Given the description of an element on the screen output the (x, y) to click on. 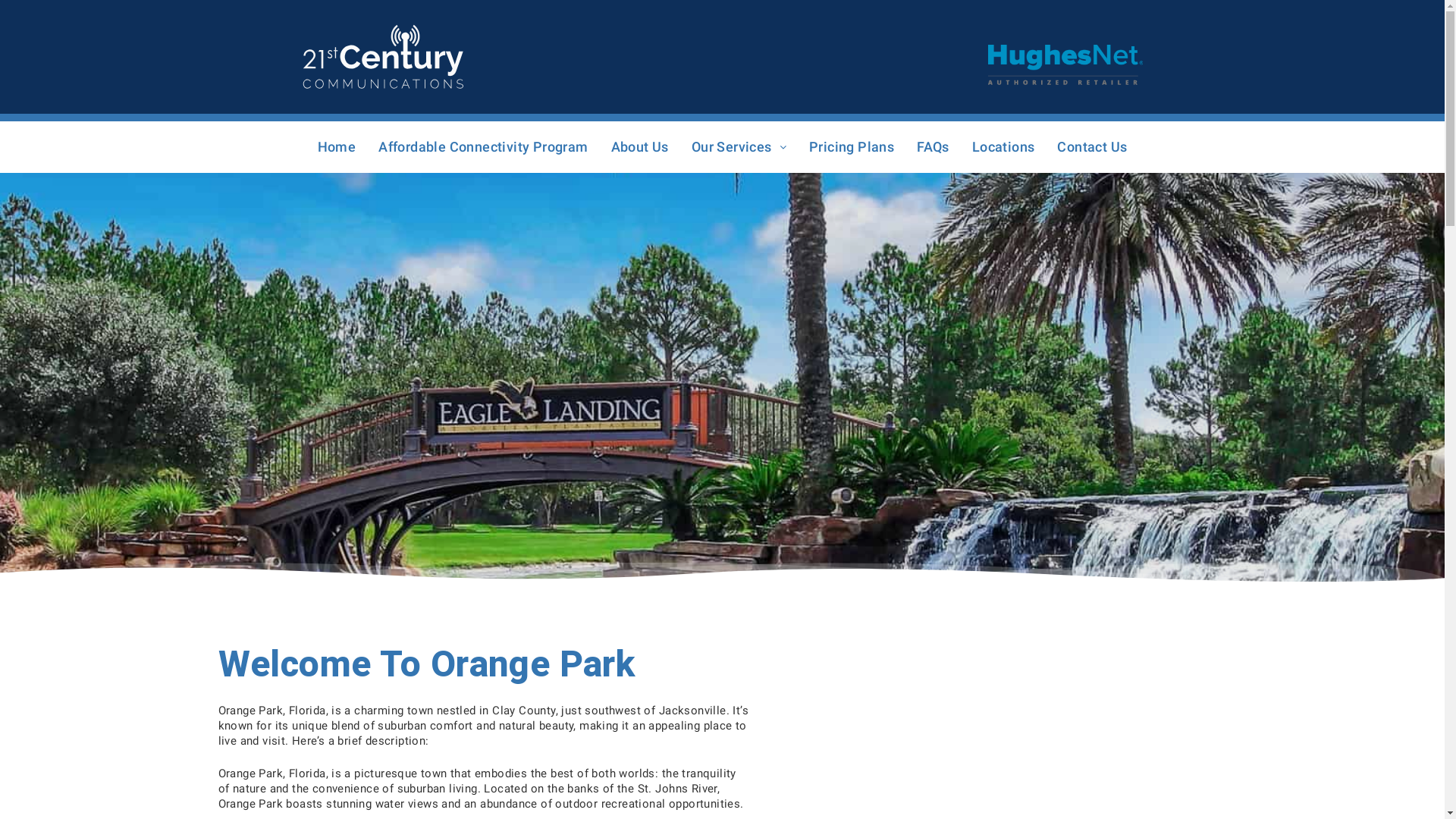
Locations Element type: text (1003, 146)
Affordable Connectivity Program Element type: text (483, 146)
Our Services Element type: text (738, 146)
FAQs Element type: text (932, 146)
Contact Us Element type: text (1091, 146)
Pricing Plans Element type: text (851, 146)
About Us Element type: text (639, 146)
Home Element type: text (336, 146)
